Given the description of an element on the screen output the (x, y) to click on. 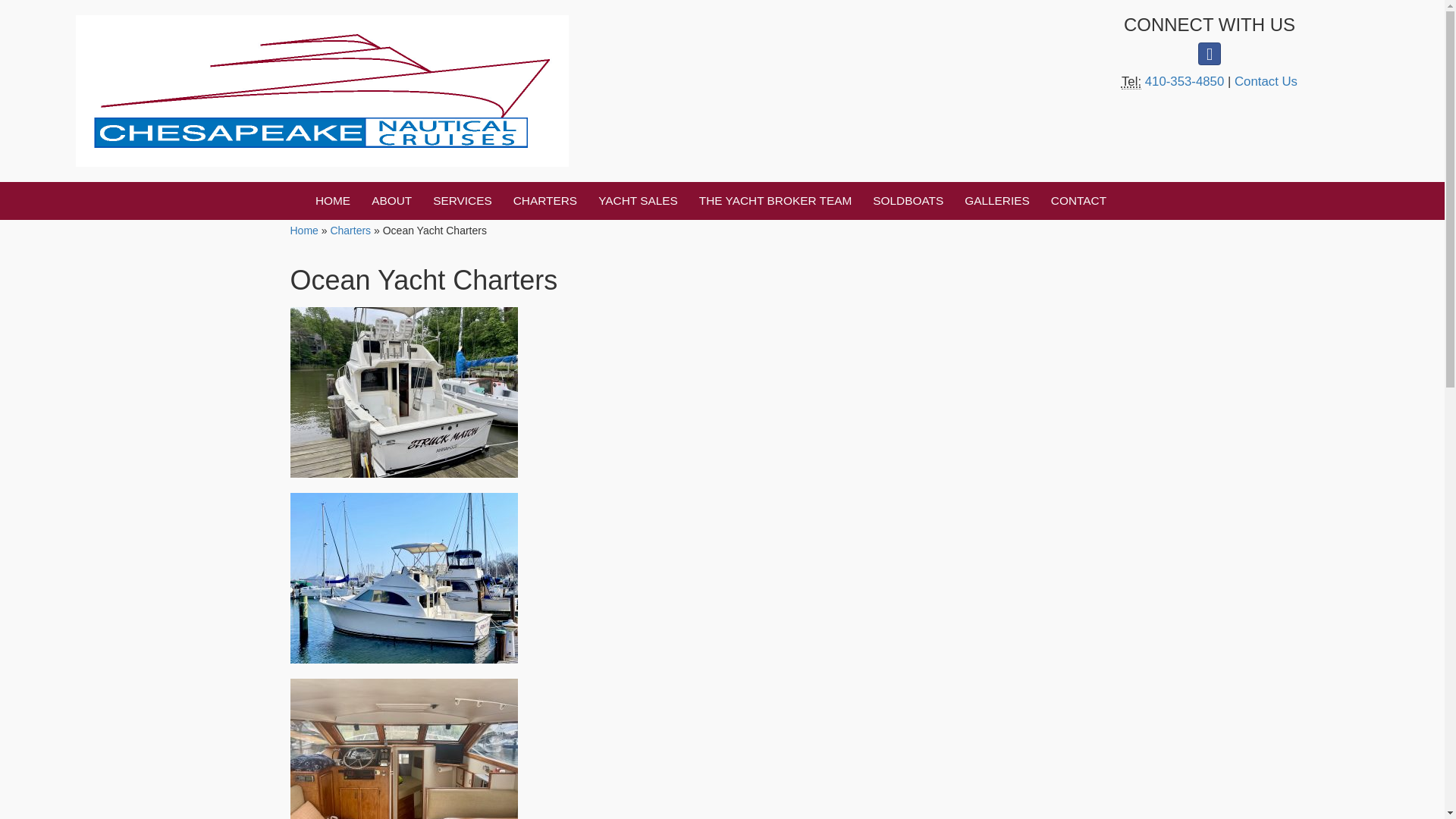
410-353-4850 (1185, 81)
SOLDBOATS (907, 200)
GALLERIES (997, 200)
Charters (545, 200)
About (391, 200)
Social media, facebook link (1209, 53)
SERVICES (462, 200)
CHARTERS (545, 200)
Contact Us (1265, 81)
THE YACHT BROKER TEAM (775, 200)
